Given the description of an element on the screen output the (x, y) to click on. 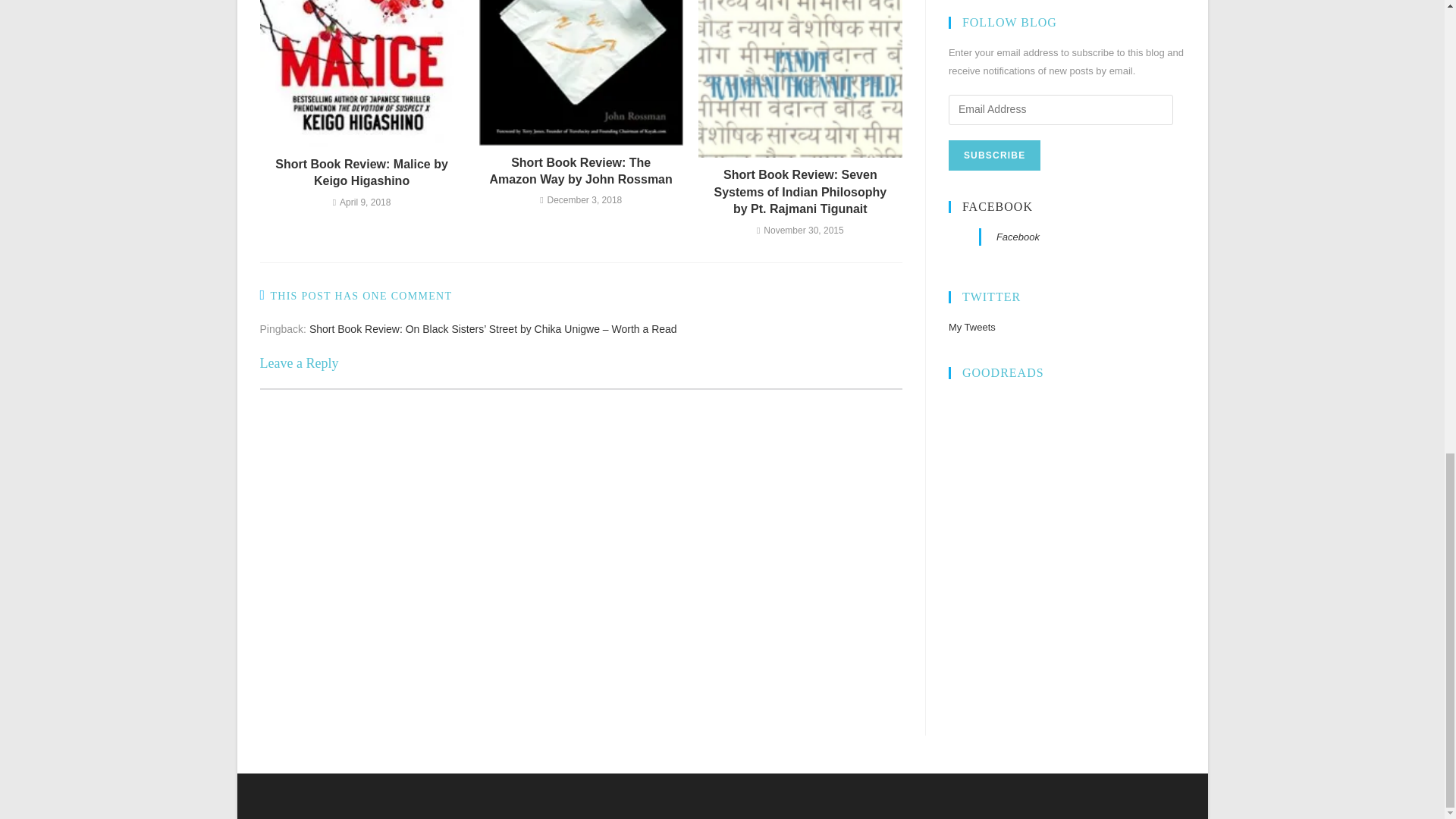
FACEBOOK (997, 205)
Short Book Review: Malice by Keigo Higashino (360, 173)
Short Book Review: The Amazon Way by John Rossman (580, 171)
Short Book Review: The Amazon Way by John Rossman (580, 171)
My Tweets (972, 326)
Facebook (1017, 236)
Subscribe (995, 155)
Subscribe (995, 155)
Short Book Review: Malice by Keigo Higashino (360, 173)
